Given the description of an element on the screen output the (x, y) to click on. 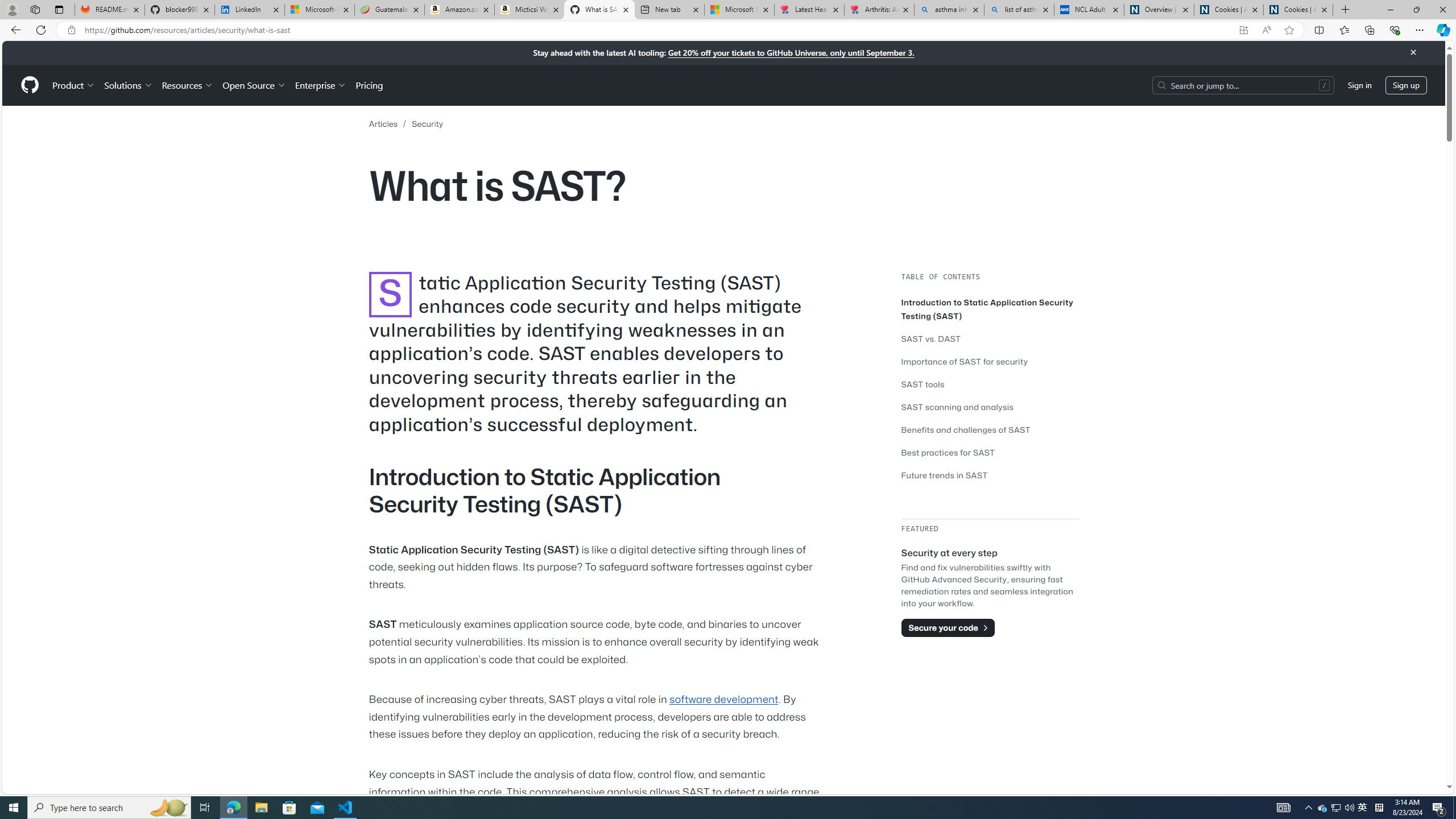
Introduction to Static Application Security Testing (SAST) (987, 309)
Enterprise (319, 84)
Pricing (368, 84)
Importance of SAST for security (989, 361)
asthma inhaler - Search (949, 9)
Resources (187, 84)
Pricing (368, 84)
SAST scanning and analysis (957, 406)
